Given the description of an element on the screen output the (x, y) to click on. 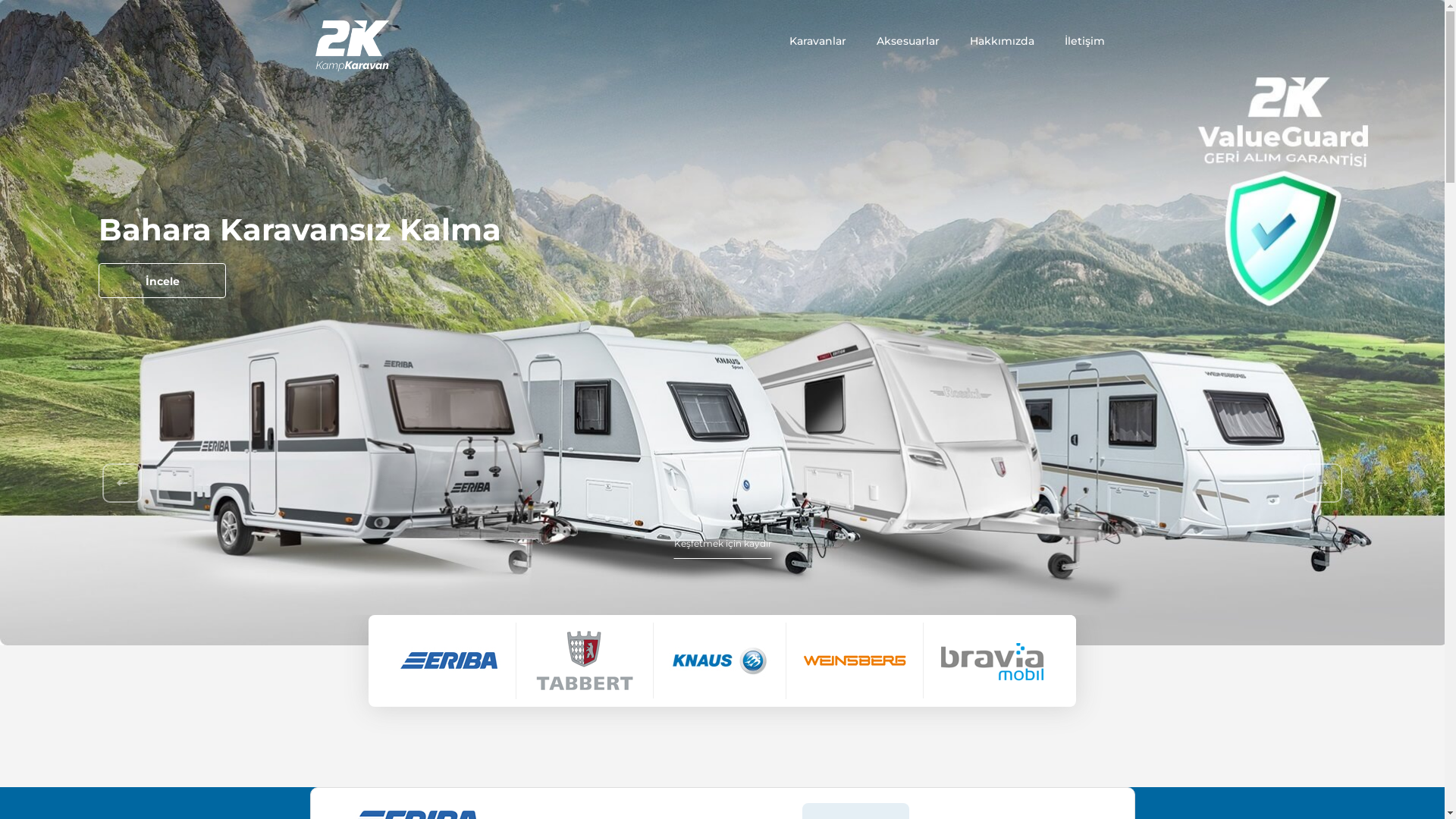
Karavanlar Element type: text (816, 40)
Aksesuarlar Element type: text (907, 40)
